Given the description of an element on the screen output the (x, y) to click on. 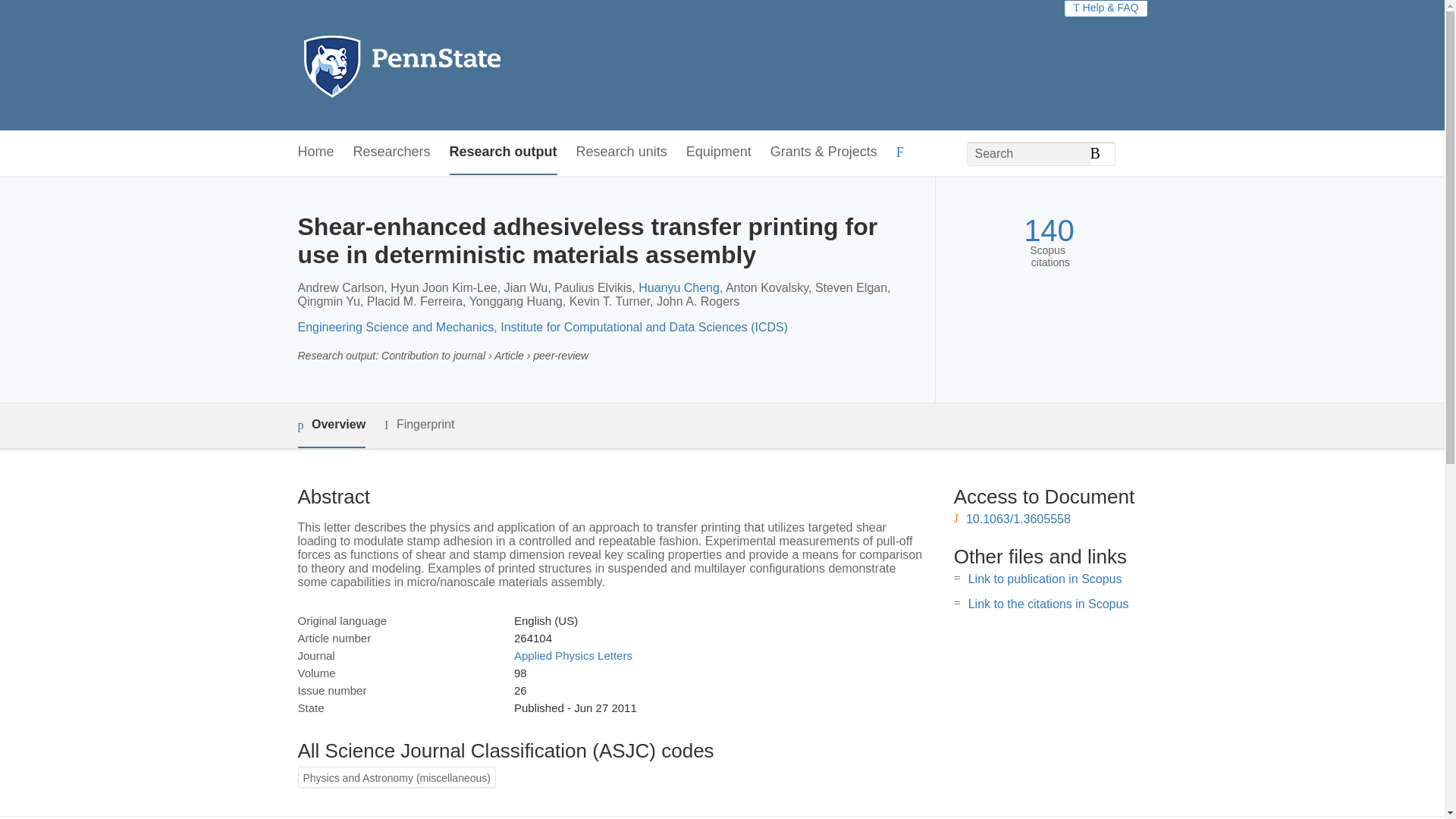
Link to the citations in Scopus (1048, 603)
Fingerprint (419, 424)
Applied Physics Letters (572, 655)
Overview (331, 425)
Equipment (718, 152)
Research output (503, 152)
Engineering Science and Mechanics (395, 327)
Penn State Home (467, 65)
Research units (621, 152)
140 (1048, 230)
